Given the description of an element on the screen output the (x, y) to click on. 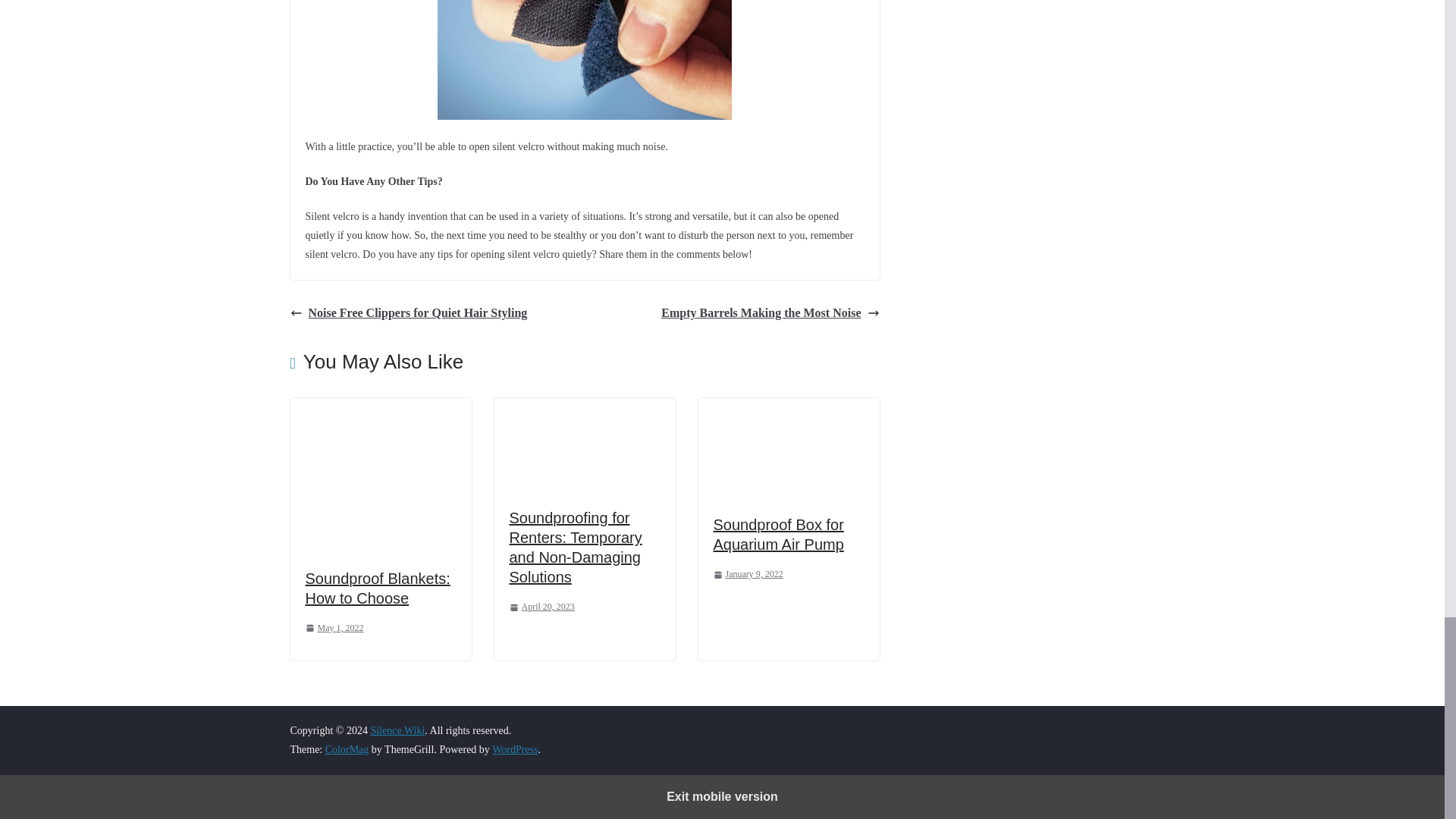
12:36 pm (333, 628)
Soundproof Blankets: How to Choose (376, 588)
Empty Barrels Making the Most Noise (770, 313)
May 1, 2022 (333, 628)
Noise Free Clippers for Quiet Hair Styling (408, 313)
Soundproof Blankets: How to Choose (376, 588)
Soundproof Box for Aquarium Air Pump (778, 534)
2:14 pm (542, 606)
April 20, 2023 (542, 606)
January 9, 2022 (748, 574)
Soundproof Blankets: How to Choose (379, 408)
Soundproof Box for Aquarium Air Pump (788, 408)
